Given the description of an element on the screen output the (x, y) to click on. 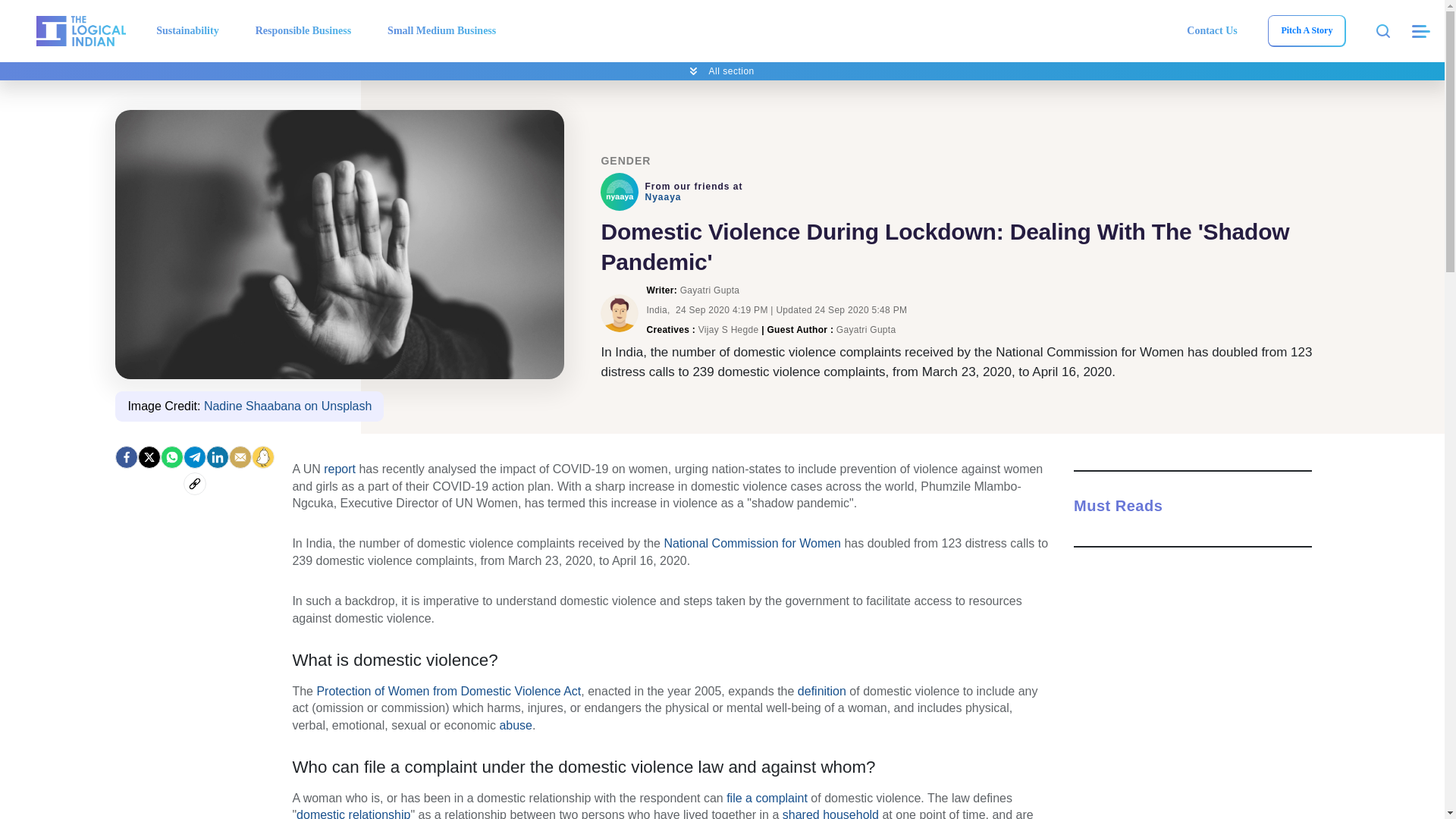
Sustainability (186, 30)
The Logical Indian (80, 30)
undefined (619, 191)
Responsible Business (303, 30)
LinkedIn (217, 456)
Contact Us (1212, 30)
Share by Email (239, 456)
Gayatri Gupta (619, 313)
Small Medium Business (441, 30)
Pitch A Story (1305, 30)
